Given the description of an element on the screen output the (x, y) to click on. 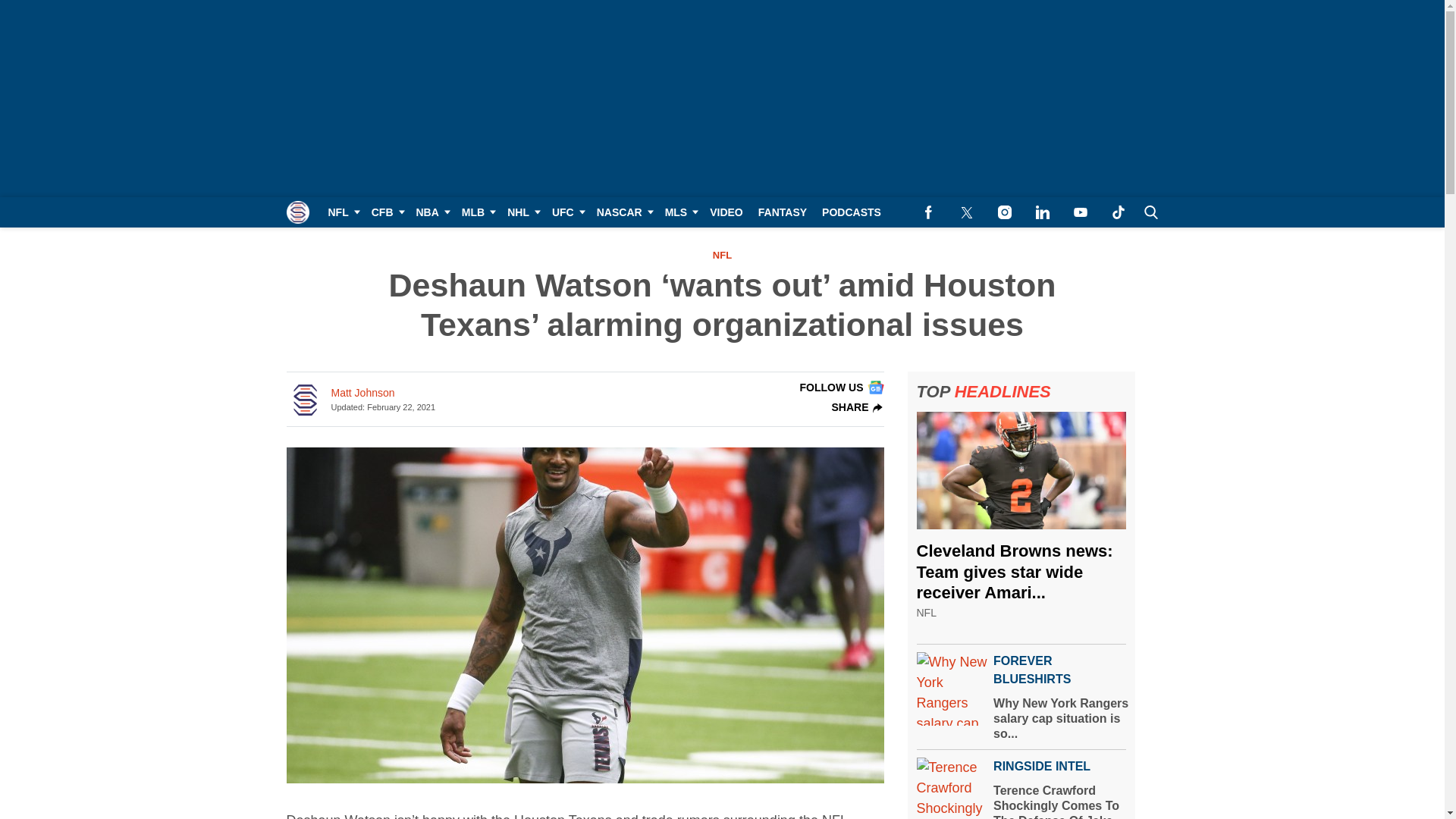
Subscribe to our TikTok channel (1118, 212)
NHL (521, 212)
Follow us on Twitter (966, 212)
NFL (341, 212)
Follow us on Facebook (928, 212)
Connect with us on LinkedIn (1042, 212)
MLB (476, 212)
CFB (386, 212)
Follow us on Instagram (1004, 212)
Subscribe to our YouTube channel (1080, 212)
